Given the description of an element on the screen output the (x, y) to click on. 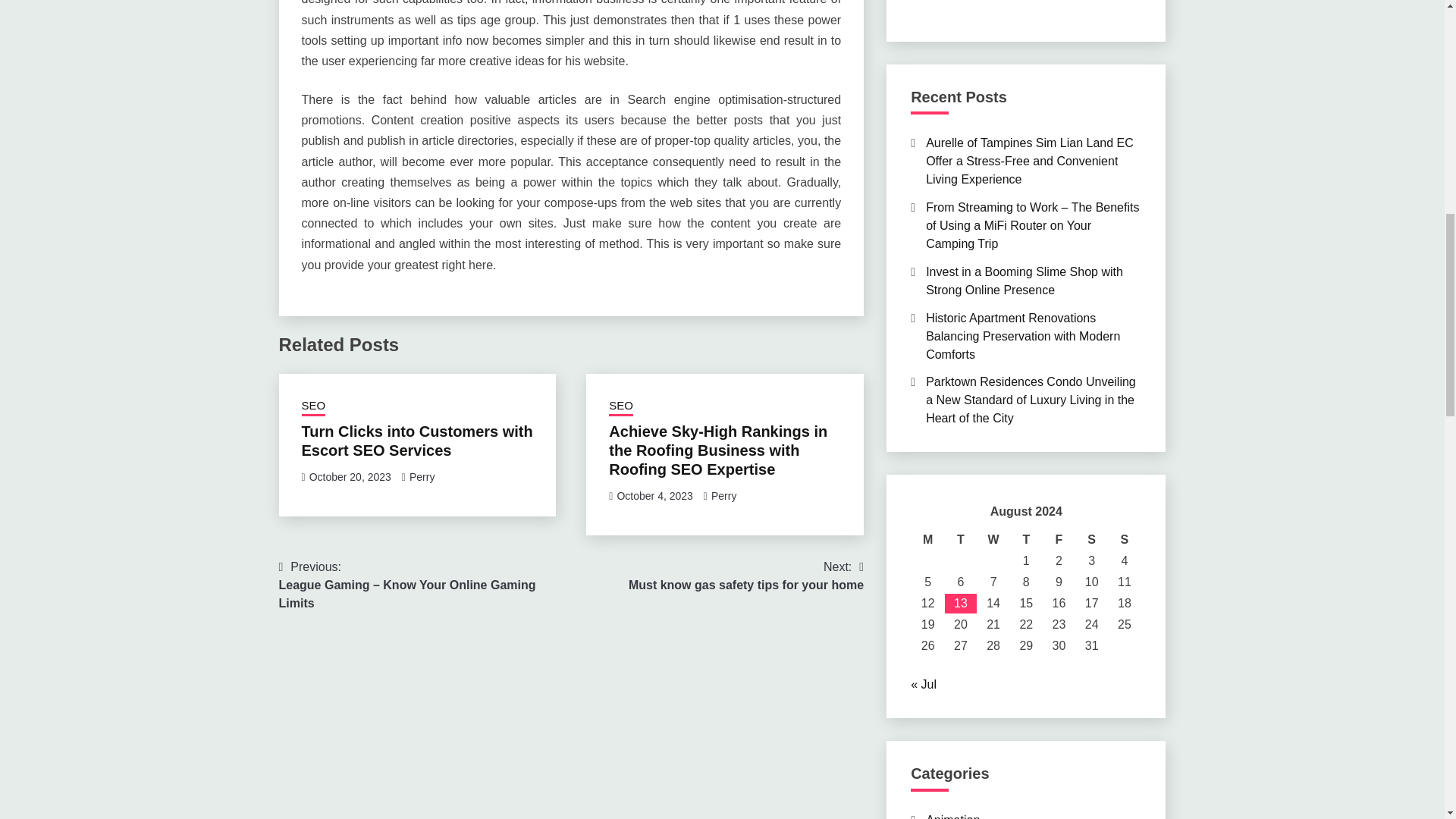
SEO (313, 406)
Monday (927, 539)
Saturday (1090, 539)
Sunday (1124, 539)
Turn Clicks into Customers with Escort SEO Services (416, 440)
Animation (952, 816)
Wednesday (745, 575)
Invest in a Booming Slime Shop with Strong Online Presence (993, 539)
